Given the description of an element on the screen output the (x, y) to click on. 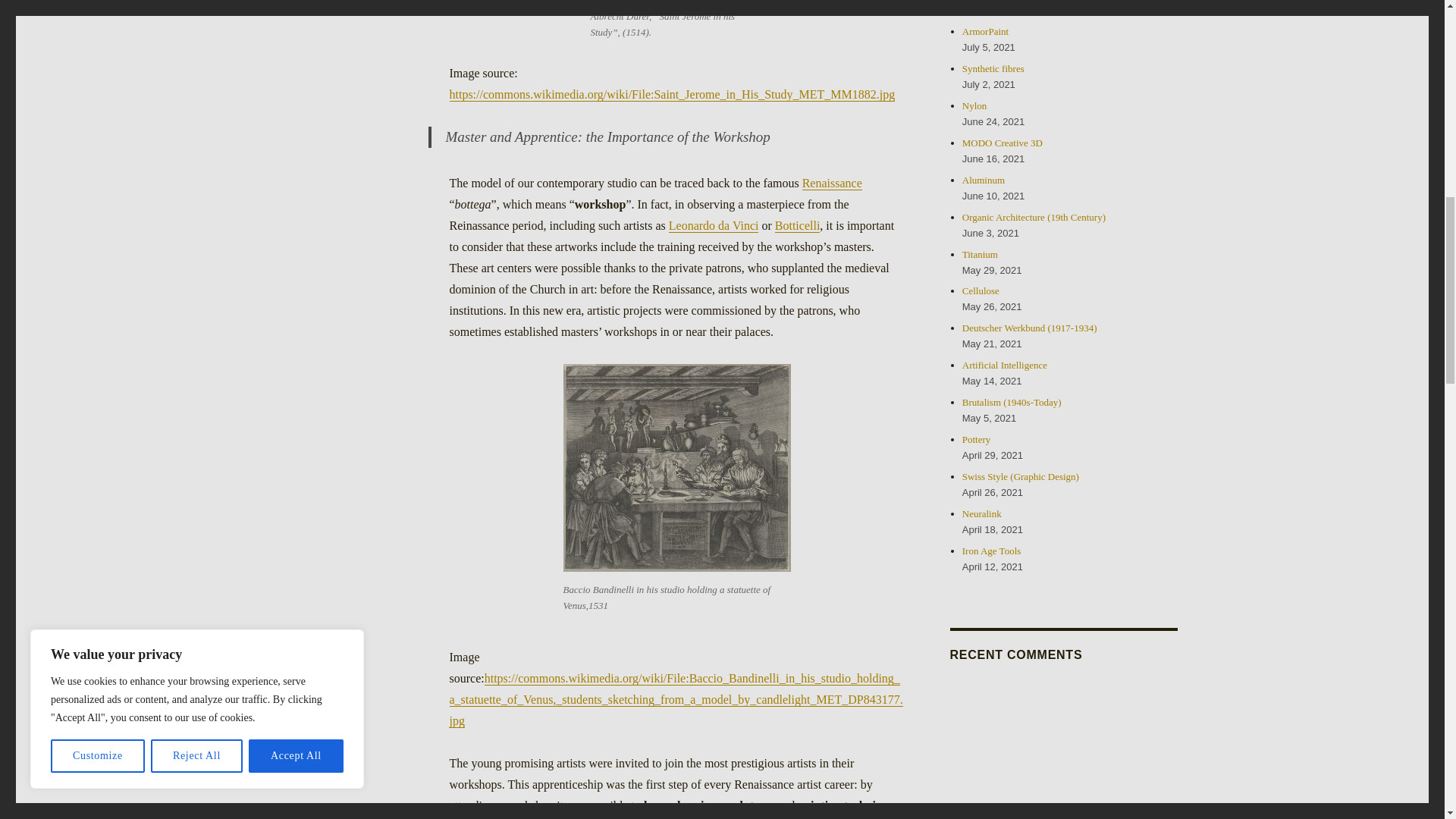
Leonardo da Vinci (713, 225)
Botticelli (797, 225)
Renaissance (831, 182)
